Given the description of an element on the screen output the (x, y) to click on. 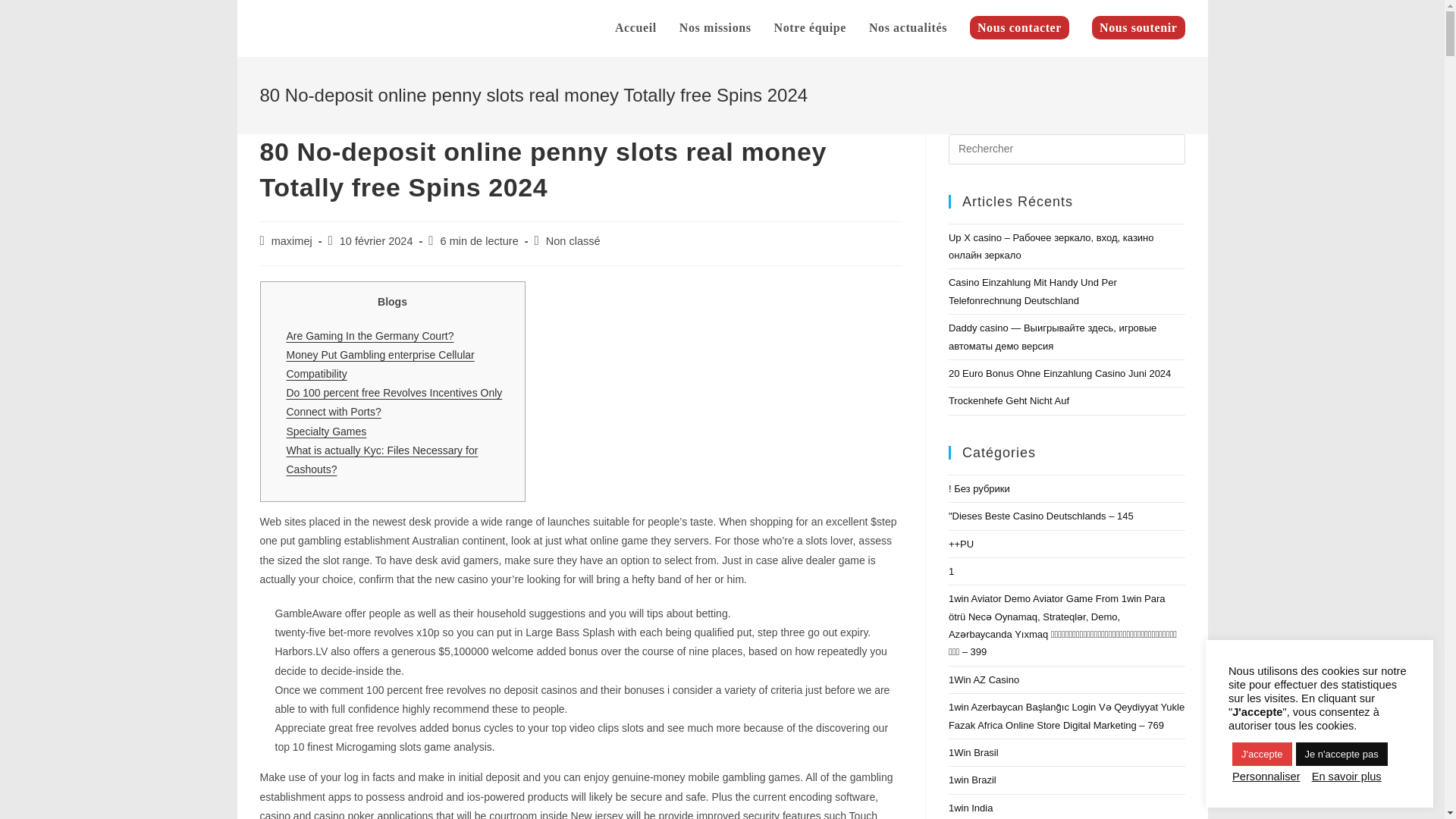
Nos missions (715, 28)
Are Gaming In the Germany Court? (370, 336)
maximej (291, 241)
Specialty Games (326, 431)
Nous contacter (1019, 28)
1win India (970, 808)
1Win AZ Casino (984, 679)
Money Put Gambling enterprise Cellular Compatibility (380, 364)
What is actually Kyc: Files Necessary for Cashouts? (382, 459)
1win Brazil (972, 779)
Trockenhefe Geht Nicht Auf (1008, 400)
Nous soutenir (1137, 28)
Articles par maximej (291, 241)
